Given the description of an element on the screen output the (x, y) to click on. 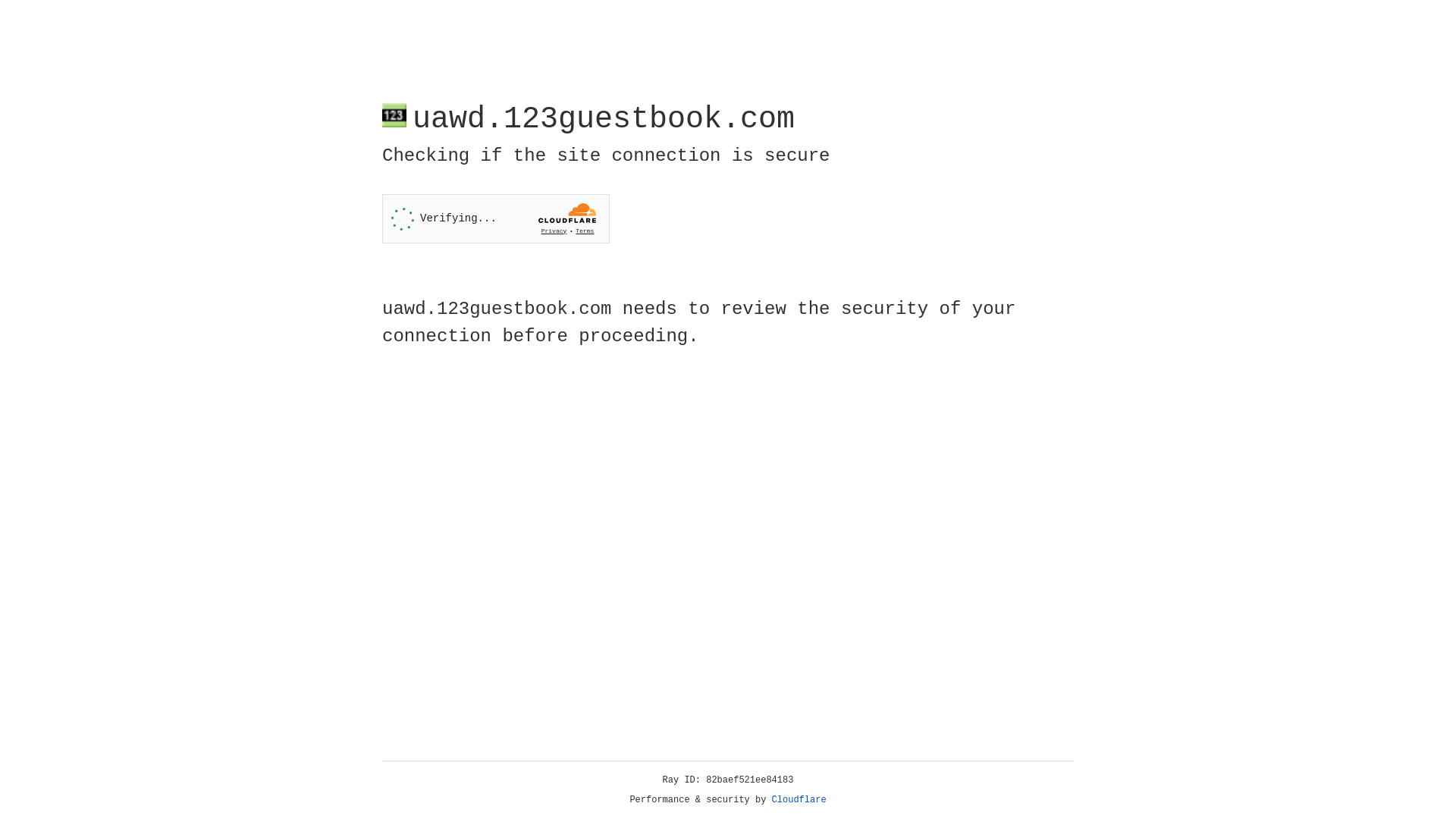
Widget containing a Cloudflare security challenge Element type: hover (495, 218)
Cloudflare Element type: text (798, 799)
